Given the description of an element on the screen output the (x, y) to click on. 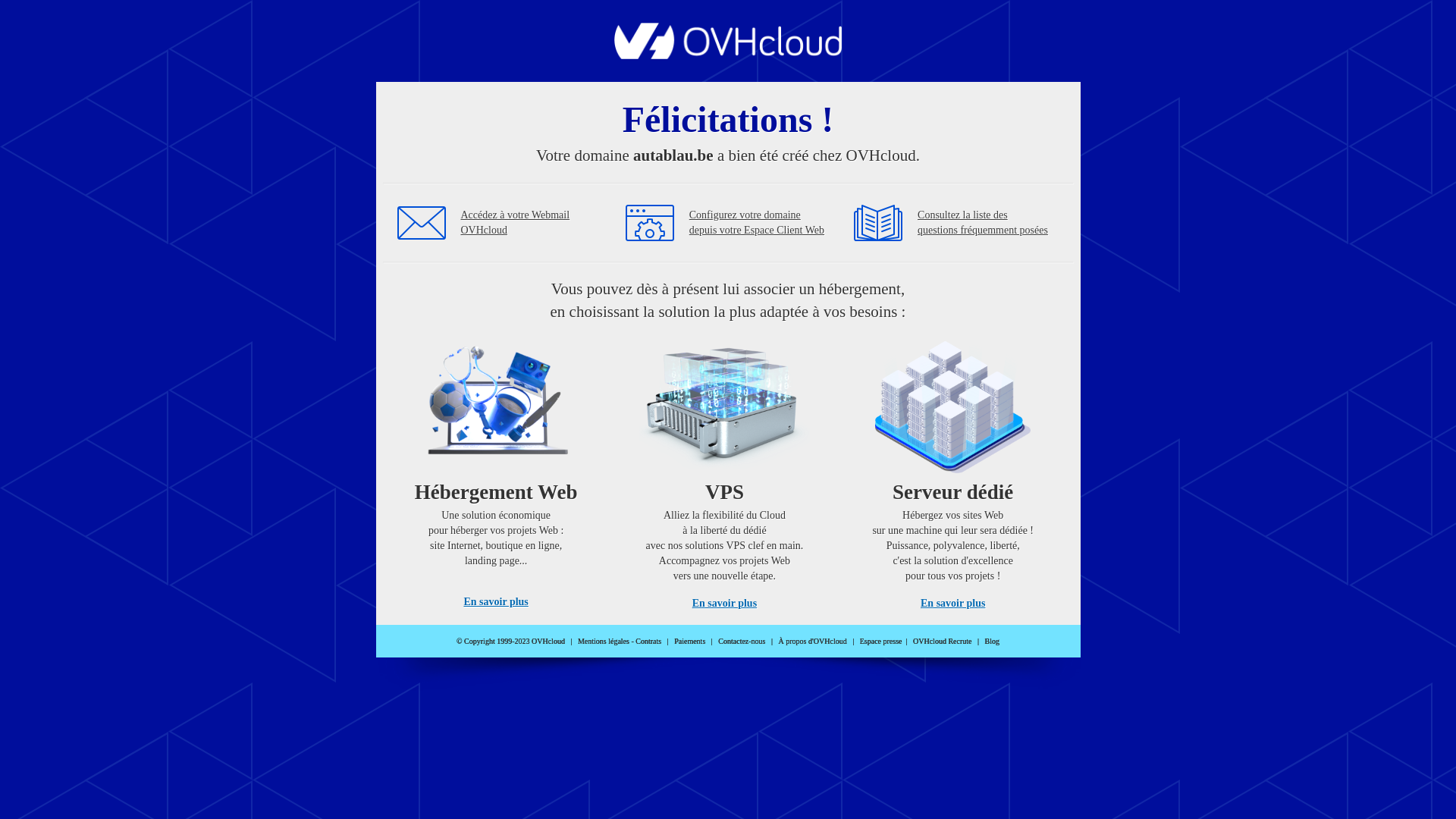
En savoir plus Element type: text (495, 601)
Configurez votre domaine
depuis votre Espace Client Web Element type: text (756, 222)
Espace presse Element type: text (880, 641)
VPS Element type: hover (724, 469)
Paiements Element type: text (689, 641)
En savoir plus Element type: text (952, 602)
OVHcloud Recrute Element type: text (942, 641)
OVHcloud Element type: hover (727, 54)
Contactez-nous Element type: text (741, 641)
En savoir plus Element type: text (724, 602)
Blog Element type: text (992, 641)
